Given the description of an element on the screen output the (x, y) to click on. 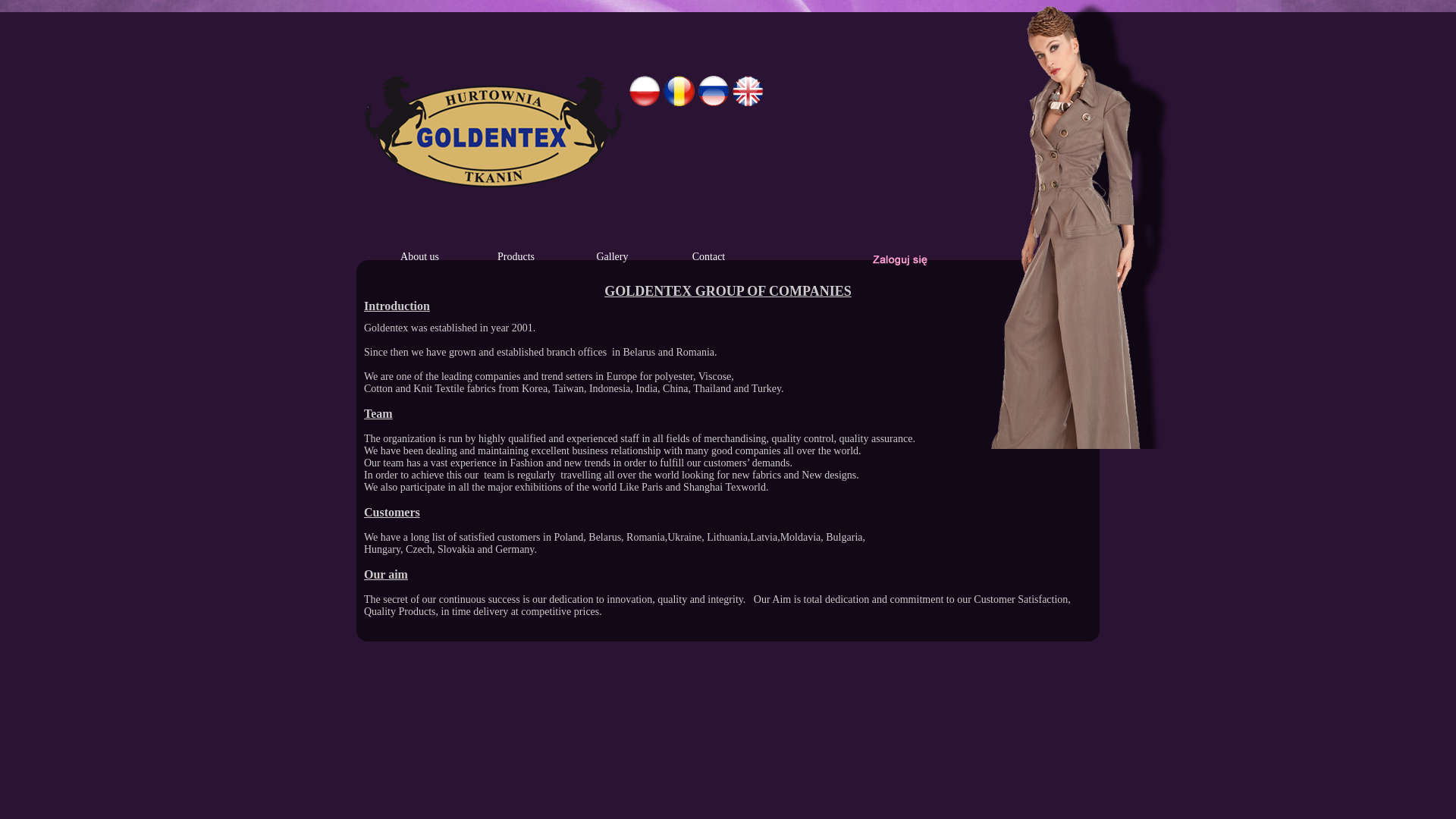
Products (515, 259)
Gallery (612, 259)
Contact (709, 259)
About us (419, 259)
przeslij (898, 259)
